Given the description of an element on the screen output the (x, y) to click on. 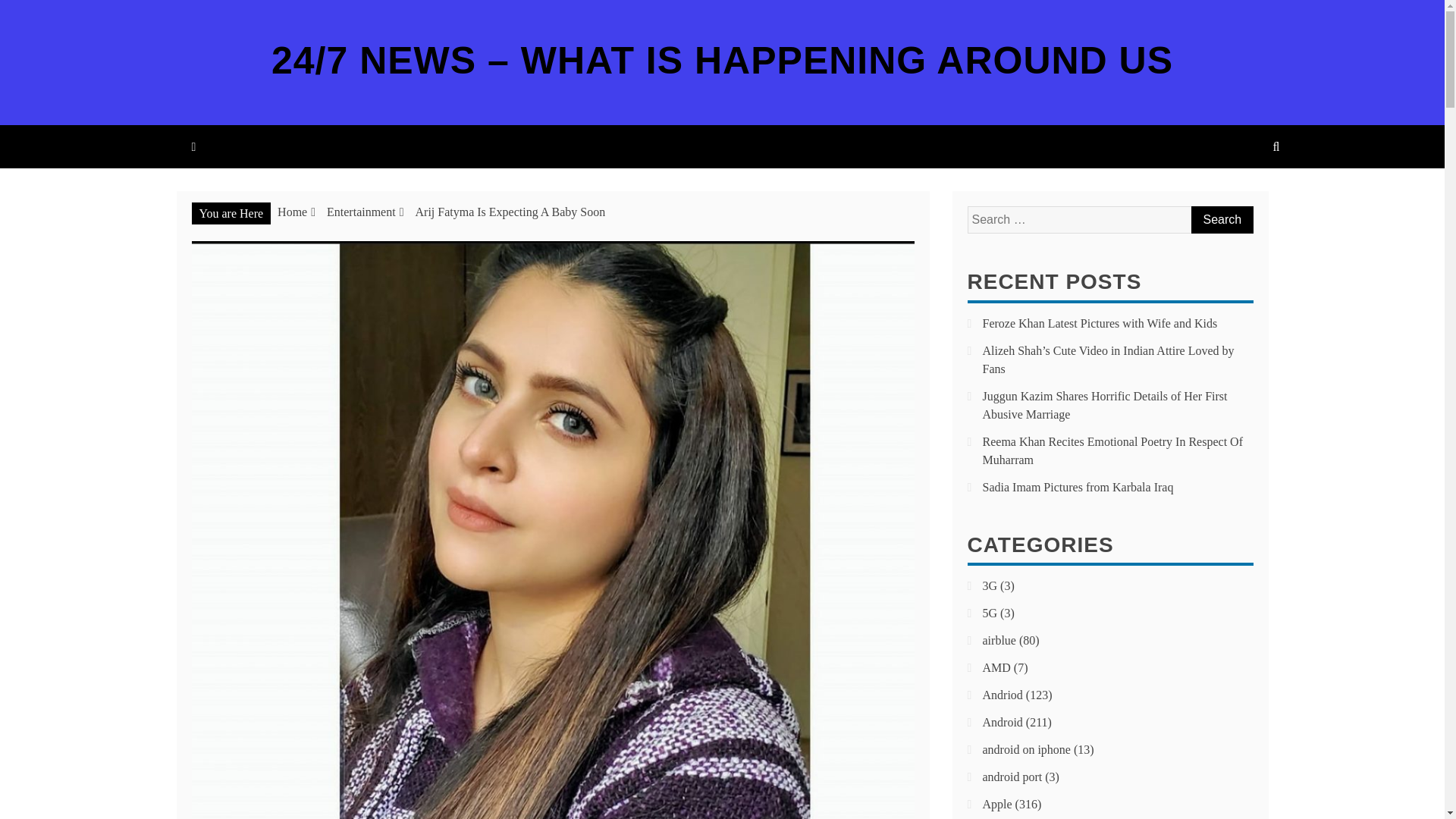
Search (1221, 219)
android on iphone (1026, 748)
Andriod (1002, 694)
airblue (999, 640)
Reema Khan Recites Emotional Poetry In Respect Of Muharram (1112, 450)
Search (1221, 219)
3G (989, 585)
Entertainment (361, 211)
Search (1221, 219)
Android (1002, 721)
Sadia Imam Pictures from Karbala Iraq (1077, 486)
Feroze Khan Latest Pictures with Wife and Kids (1099, 323)
Home (292, 211)
AMD (996, 667)
